Given the description of an element on the screen output the (x, y) to click on. 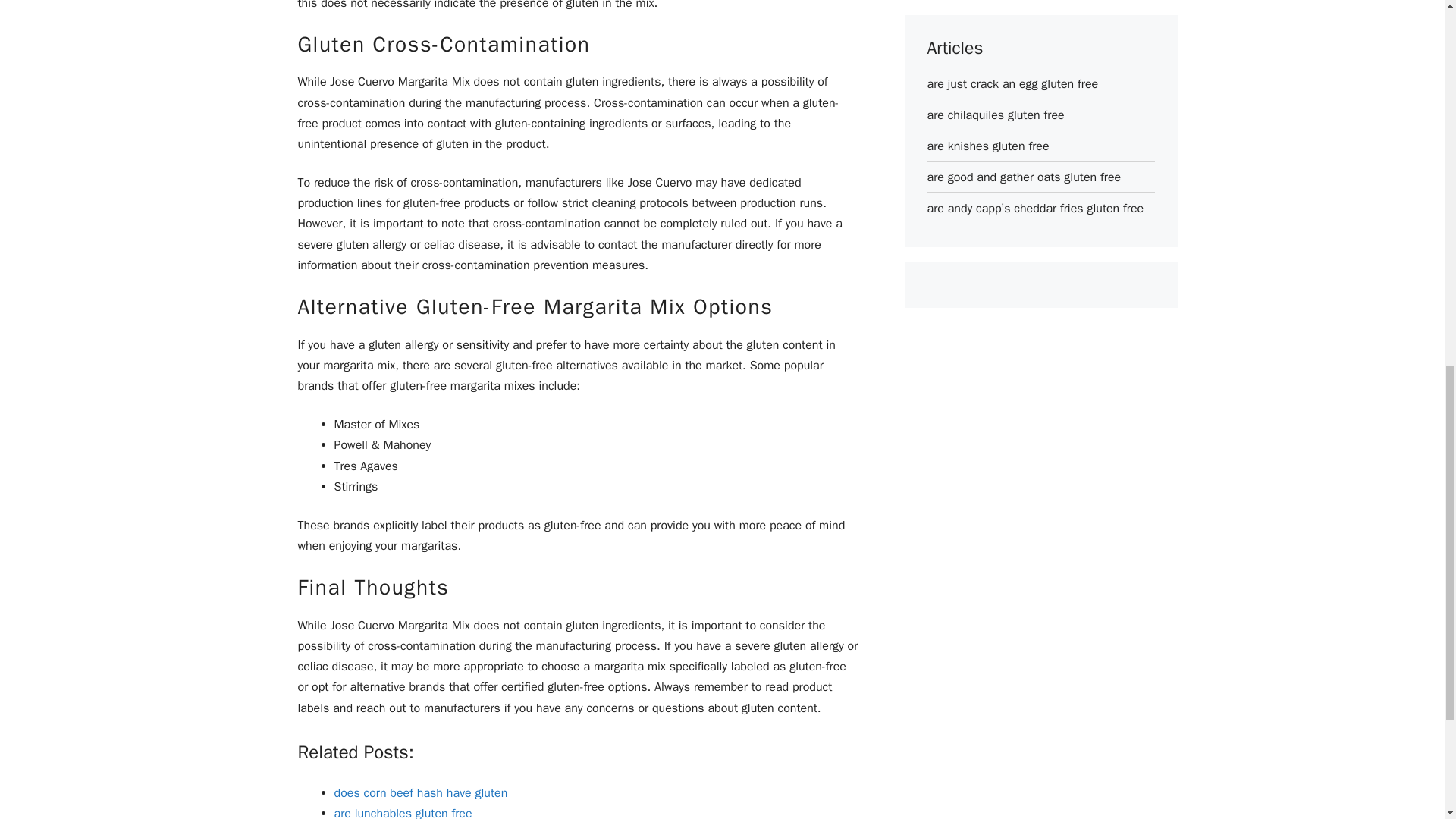
are lunchables gluten free (402, 812)
does corn beef hash have gluten (419, 792)
